Given the description of an element on the screen output the (x, y) to click on. 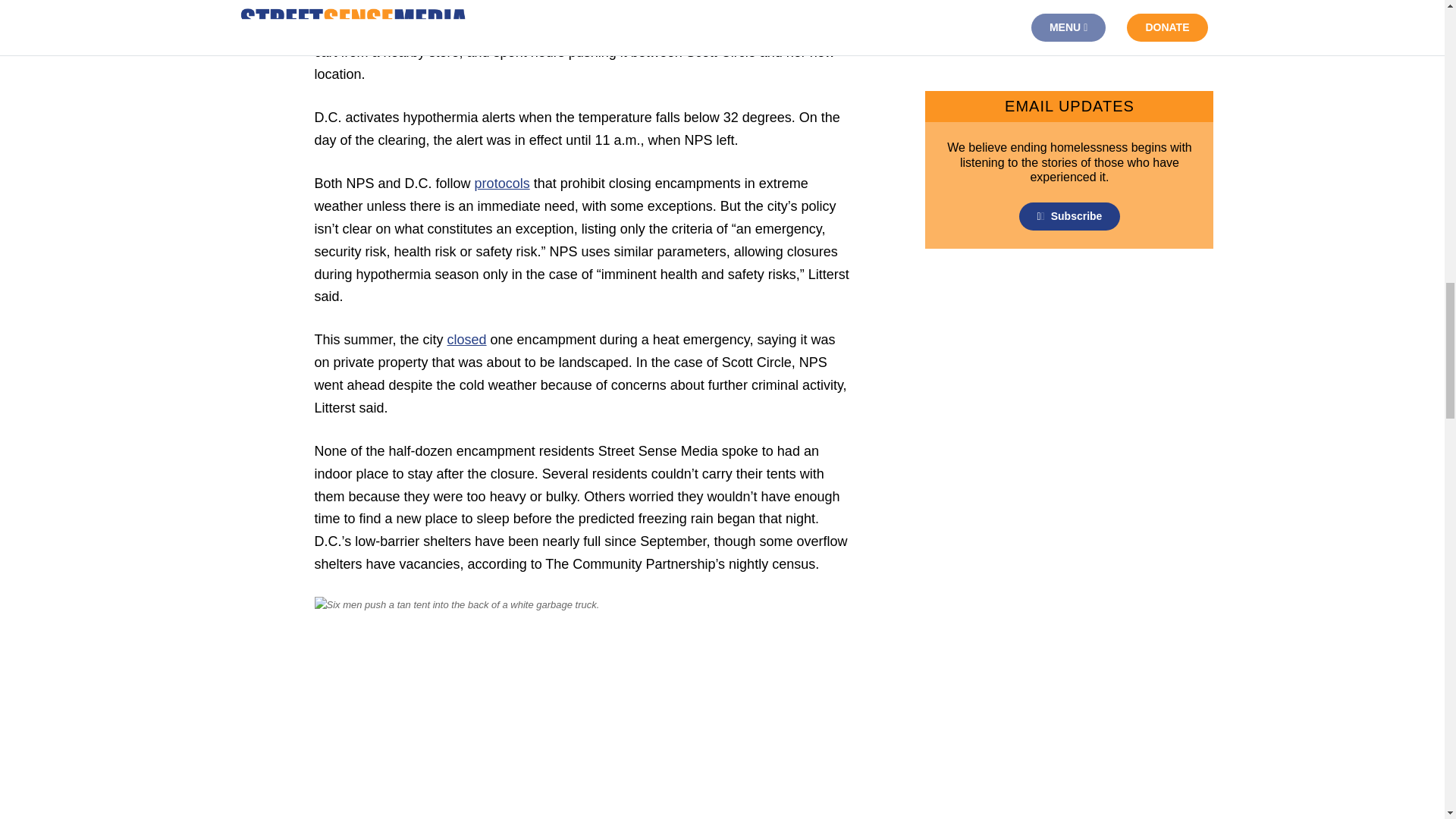
closed (466, 339)
protocols (501, 183)
